Given the description of an element on the screen output the (x, y) to click on. 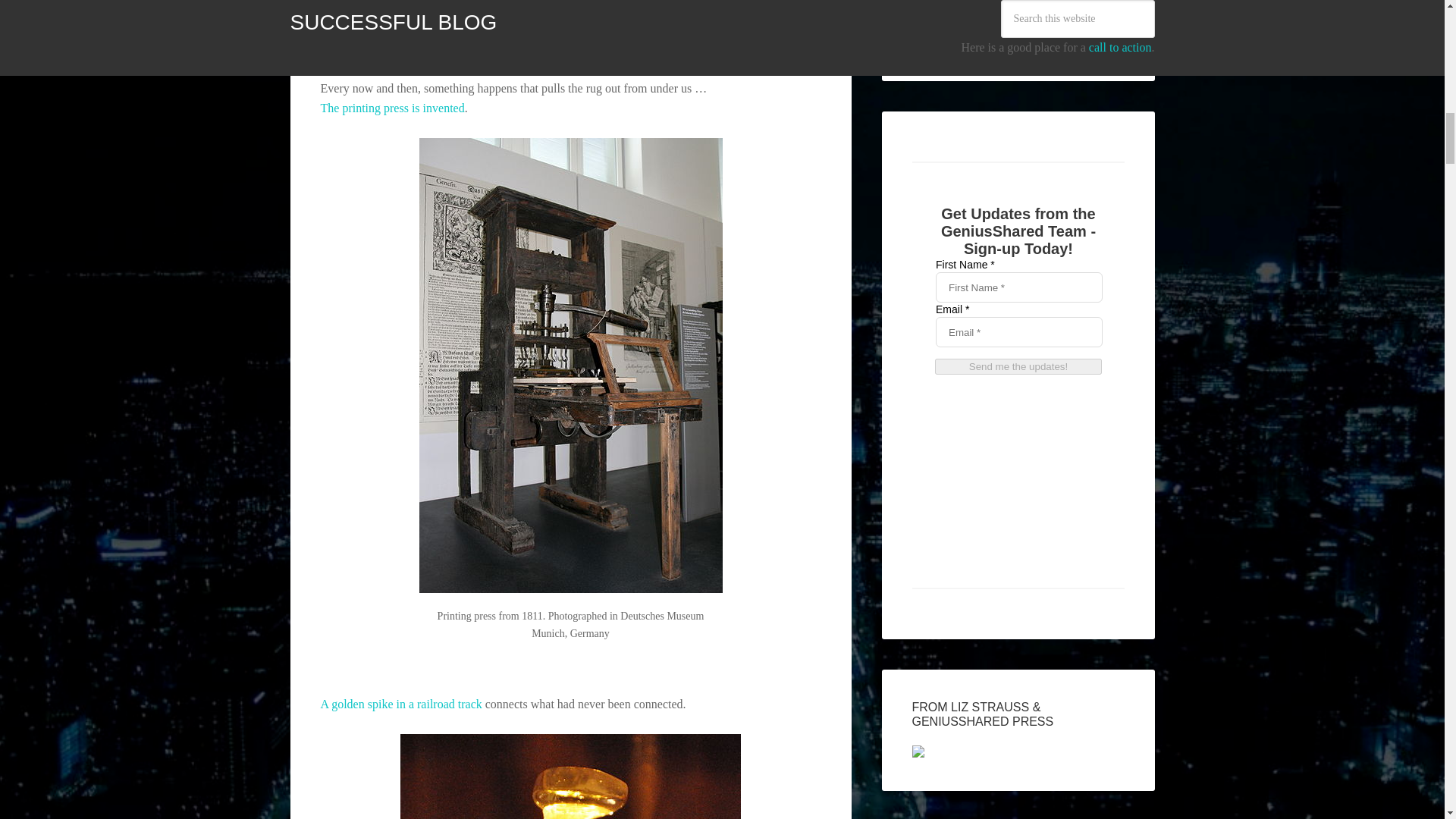
The printing press is invented (392, 107)
A golden spike in a railroad track (400, 703)
